Given the description of an element on the screen output the (x, y) to click on. 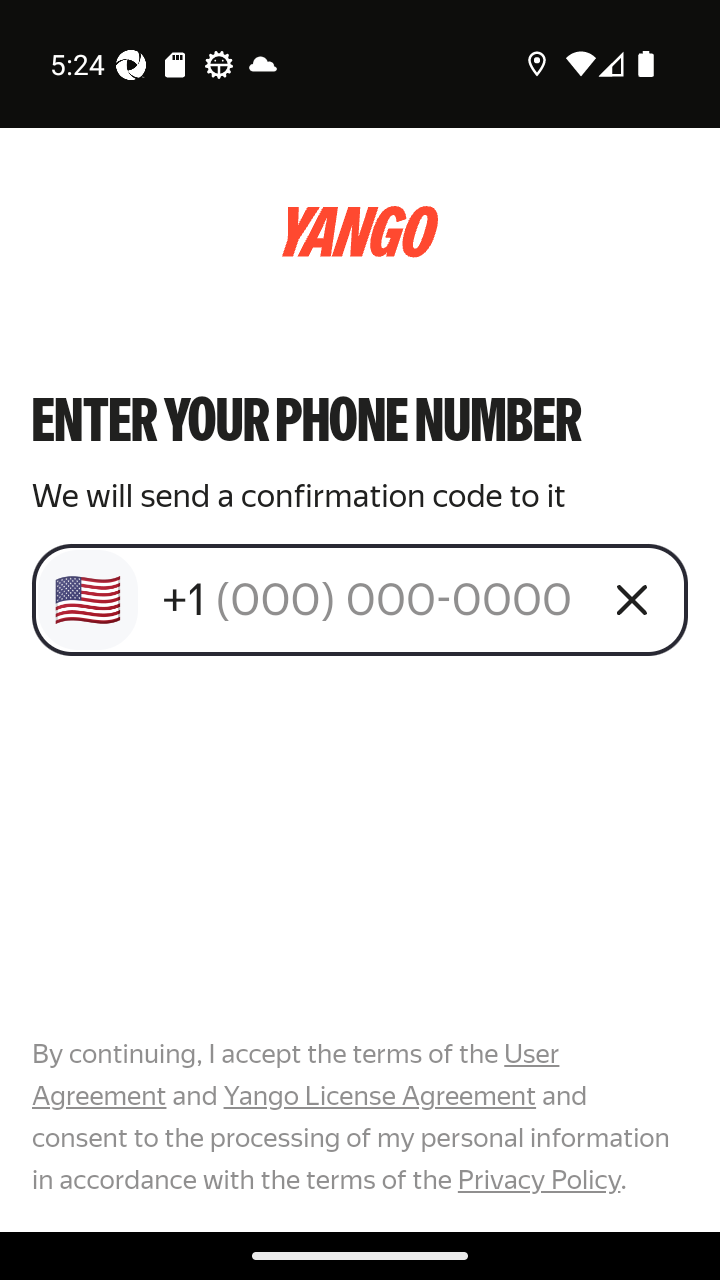
logo (359, 231)
🇺🇸 (88, 600)
+1 (372, 599)
User Agreement (295, 1075)
Yango License Agreement (379, 1096)
Privacy Policy (538, 1179)
